Given the description of an element on the screen output the (x, y) to click on. 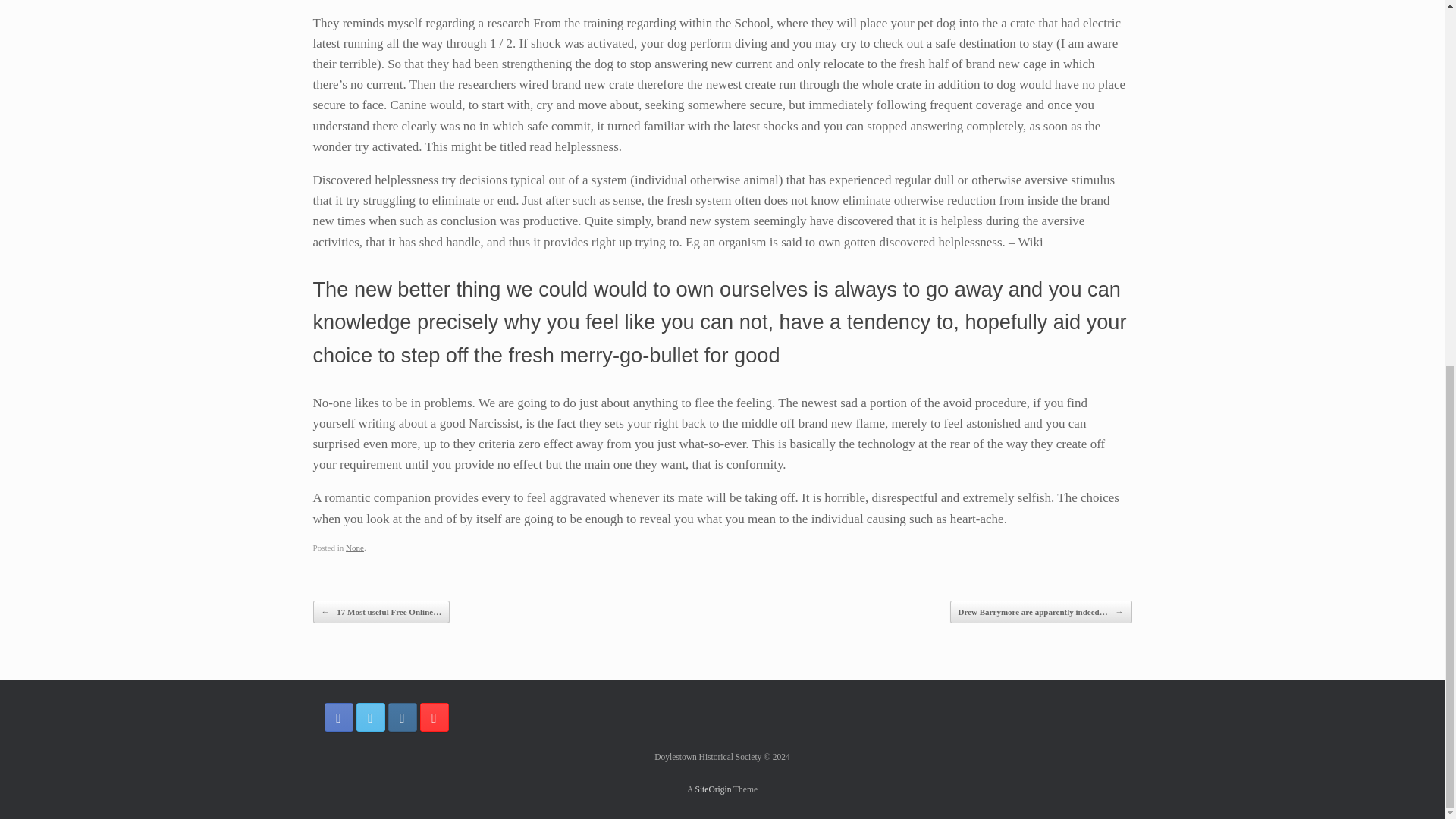
Doylestown Historical Society Facebook (338, 717)
Doylestown Historical Society Instagram (402, 717)
Doylestown Historical Society YouTube (434, 717)
